Given the description of an element on the screen output the (x, y) to click on. 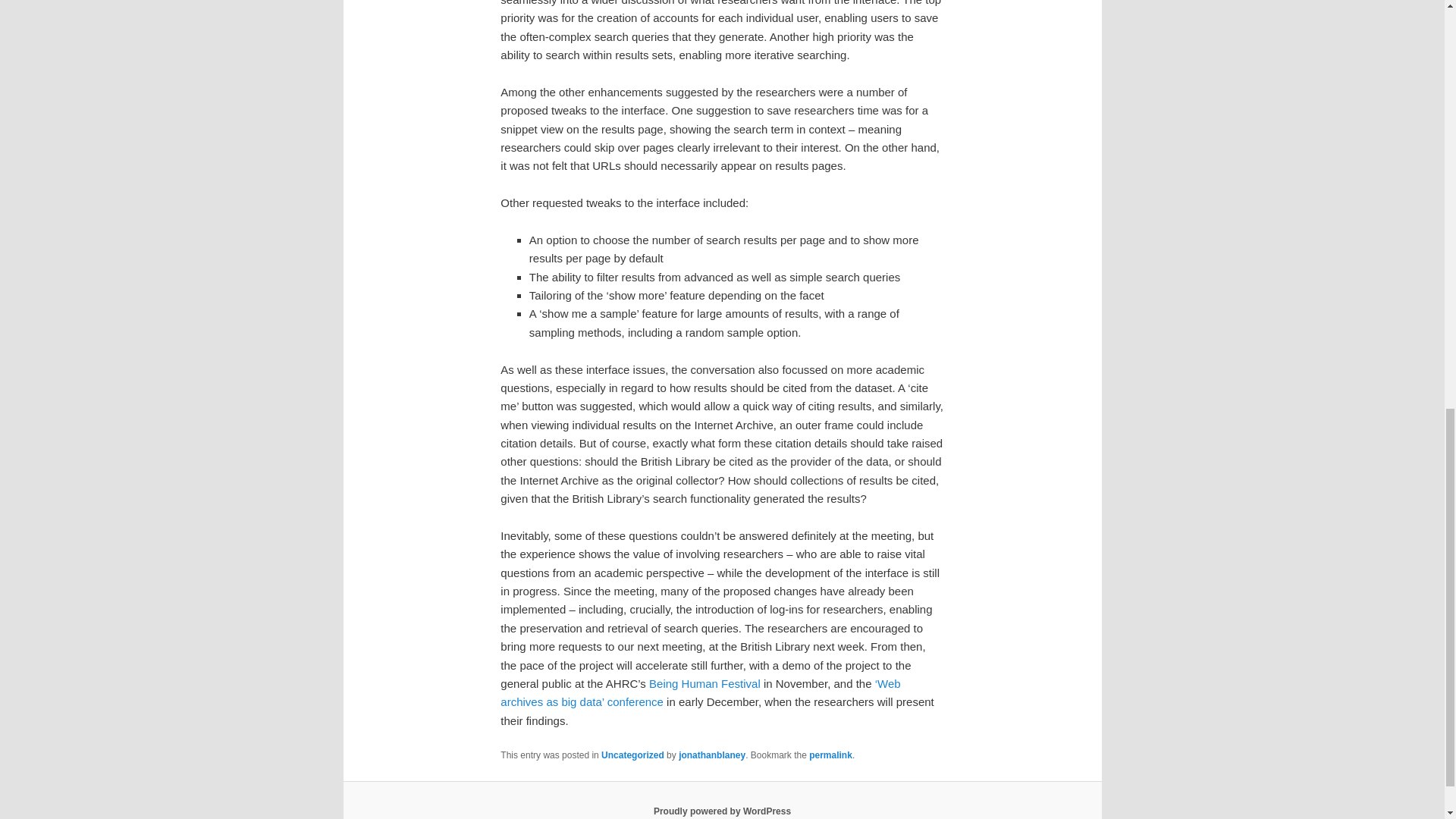
Semantic Personal Publishing Platform (721, 810)
Proudly powered by WordPress (721, 810)
Uncategorized (632, 755)
permalink (830, 755)
jonathanblaney (711, 755)
Being Human Festival (704, 683)
